Given the description of an element on the screen output the (x, y) to click on. 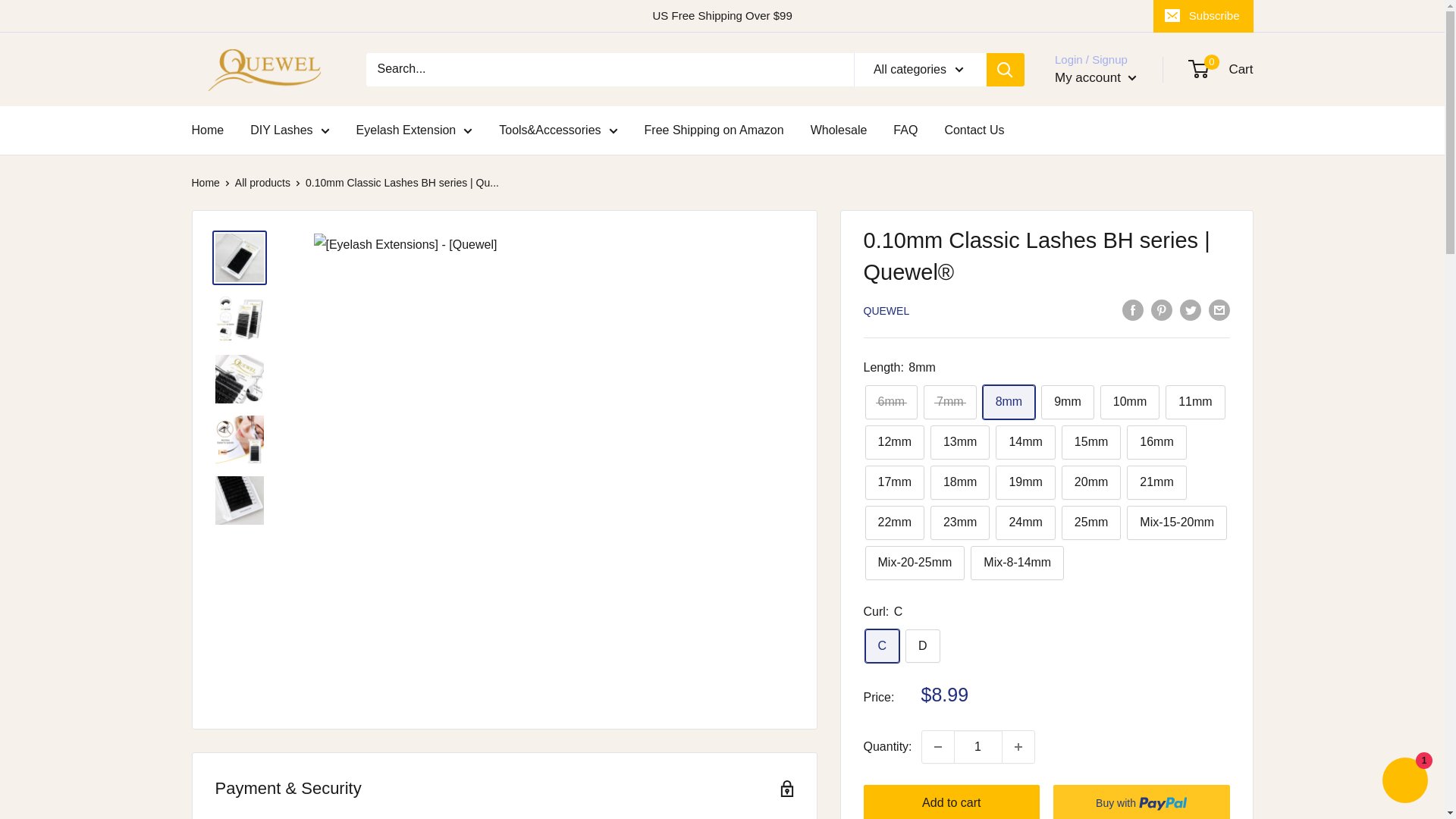
1 (978, 746)
20mm (1091, 482)
Subscribe (1203, 15)
11mm (1195, 401)
16mm (1156, 442)
10mm (1129, 401)
23mm (960, 522)
17mm (893, 482)
24mm (1024, 522)
18mm (960, 482)
8mm (1008, 401)
25mm (1091, 522)
13mm (960, 442)
7mm (949, 401)
15mm (1091, 442)
